Given the description of an element on the screen output the (x, y) to click on. 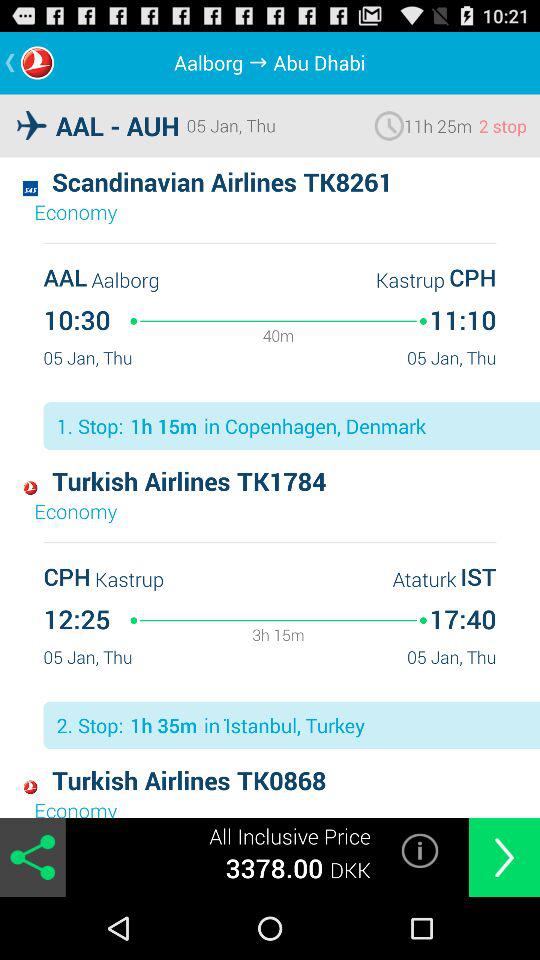
open information page (419, 850)
